Given the description of an element on the screen output the (x, y) to click on. 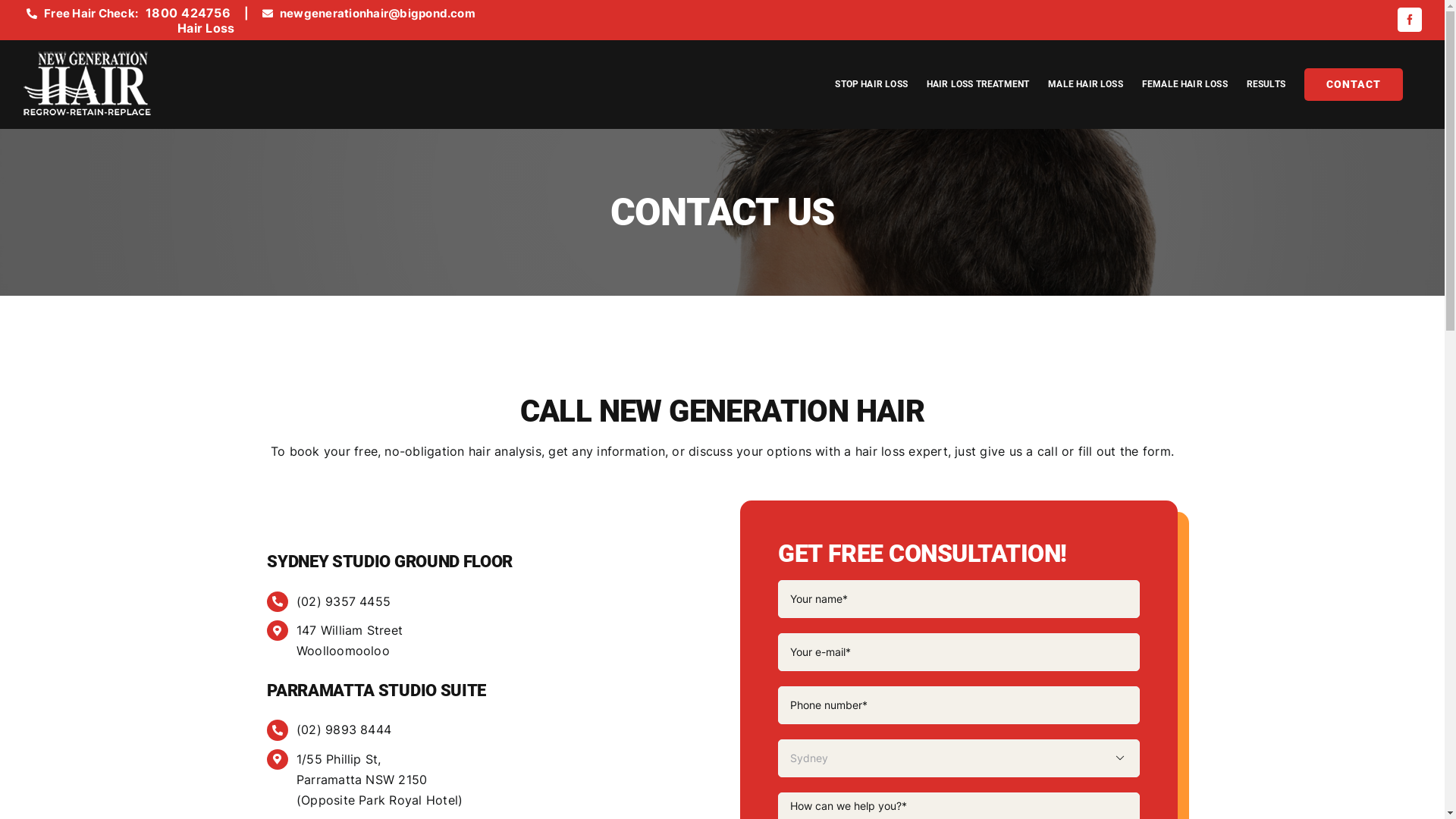
1800
424756
Hair Loss Element type: text (189, 22)
Facebook Element type: text (1409, 19)
HAIR LOSS TREATMENT Element type: text (977, 84)
(02) 9893 8444 Element type: text (343, 729)
MALE HAIR LOSS Element type: text (1085, 84)
FEMALE HAIR LOSS Element type: text (1184, 84)
RESULTS Element type: text (1265, 84)
CONTACT Element type: text (1353, 84)
(02) 9357 4455 Element type: text (343, 600)
newgenerationhair@bigpond.com Element type: text (377, 13)
STOP HAIR LOSS Element type: text (870, 84)
